Given the description of an element on the screen output the (x, y) to click on. 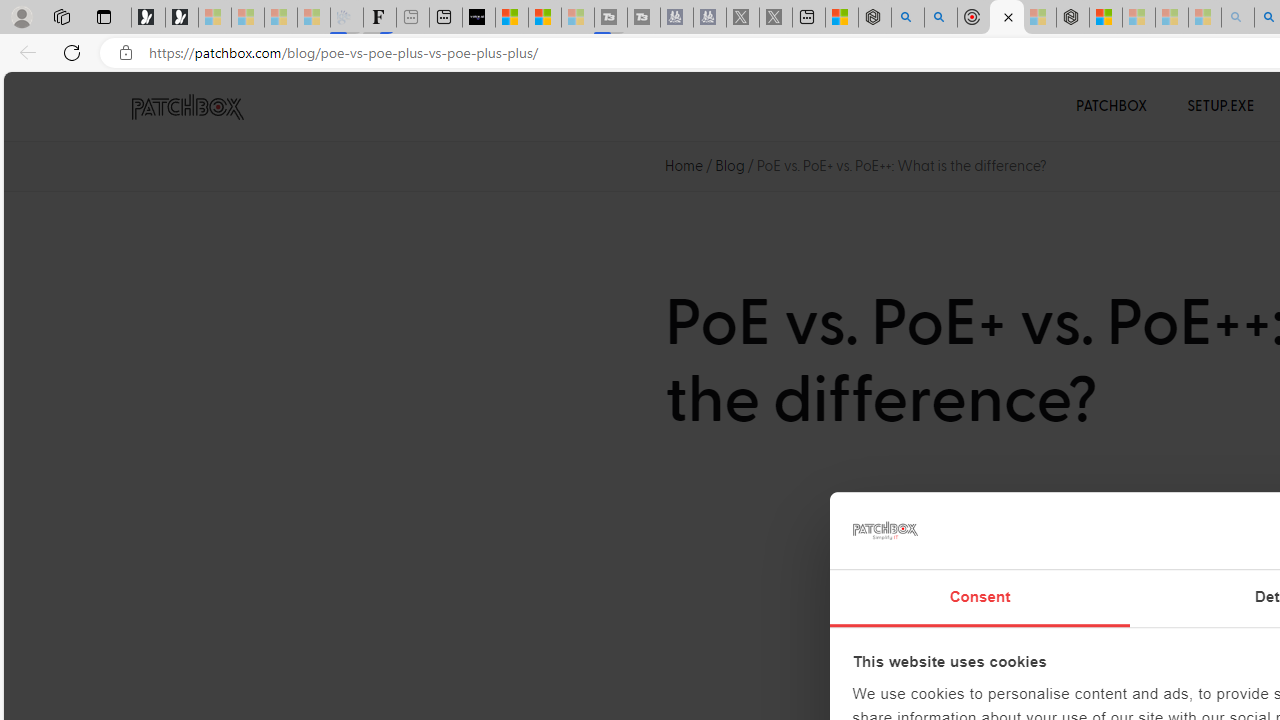
Blog (729, 165)
Newsletter Sign Up (182, 17)
SETUP.EXE (1220, 106)
PATCHBOX Simplify IT (200, 106)
